Given the description of an element on the screen output the (x, y) to click on. 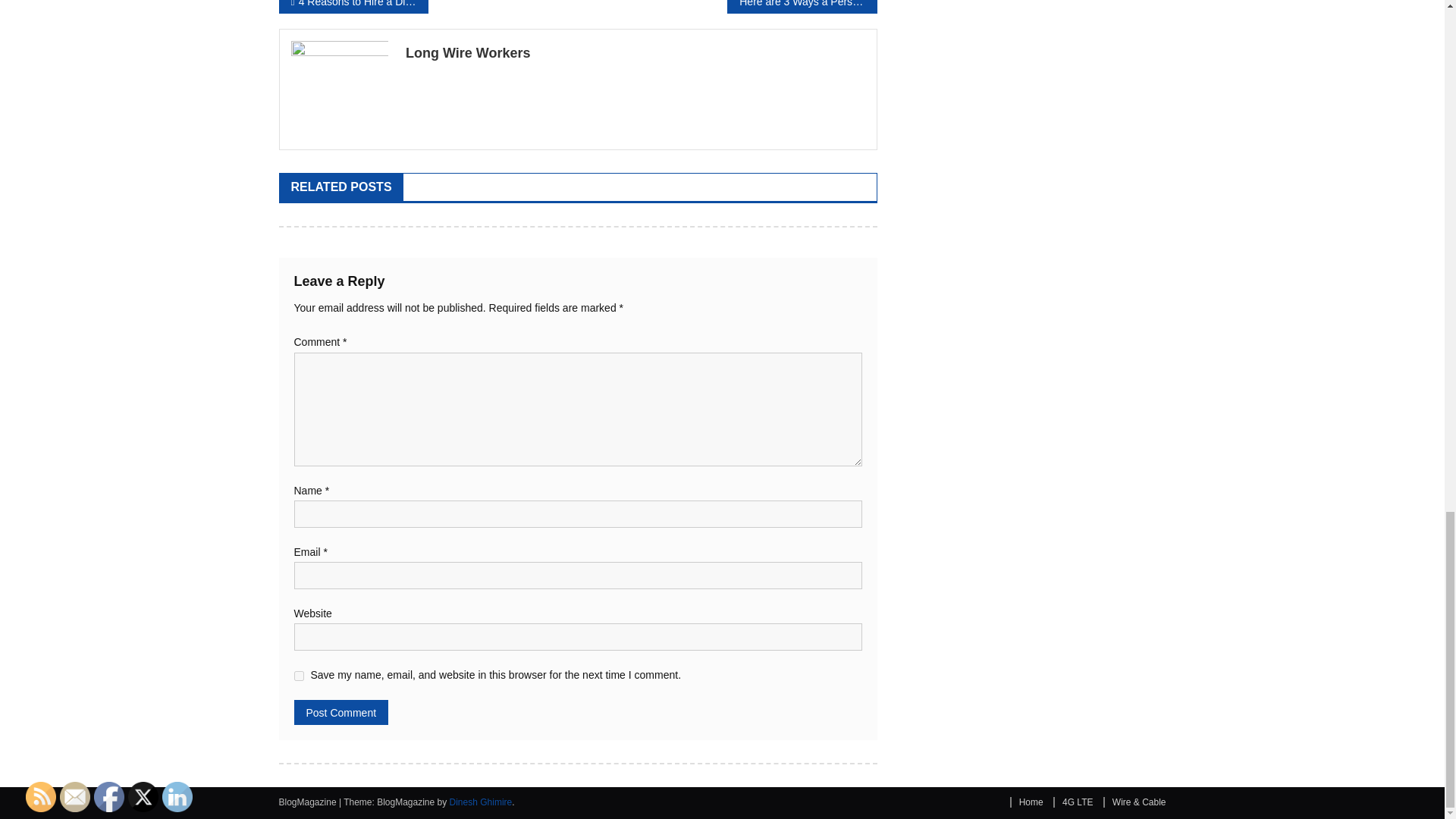
Here are 3 Ways a Personal Injury Lawyer Can Help You (801, 6)
Dinesh Ghimire (480, 801)
Post Comment (341, 712)
Follow by Email (74, 797)
4G LTE (1072, 801)
Home (1026, 801)
Facebook (108, 797)
Post Comment (341, 712)
yes (299, 675)
Long Wire Workers (635, 52)
4 Reasons to Hire a Divorce Lawyer Right Away (353, 6)
Twitter (143, 797)
RSS (41, 797)
